Given the description of an element on the screen output the (x, y) to click on. 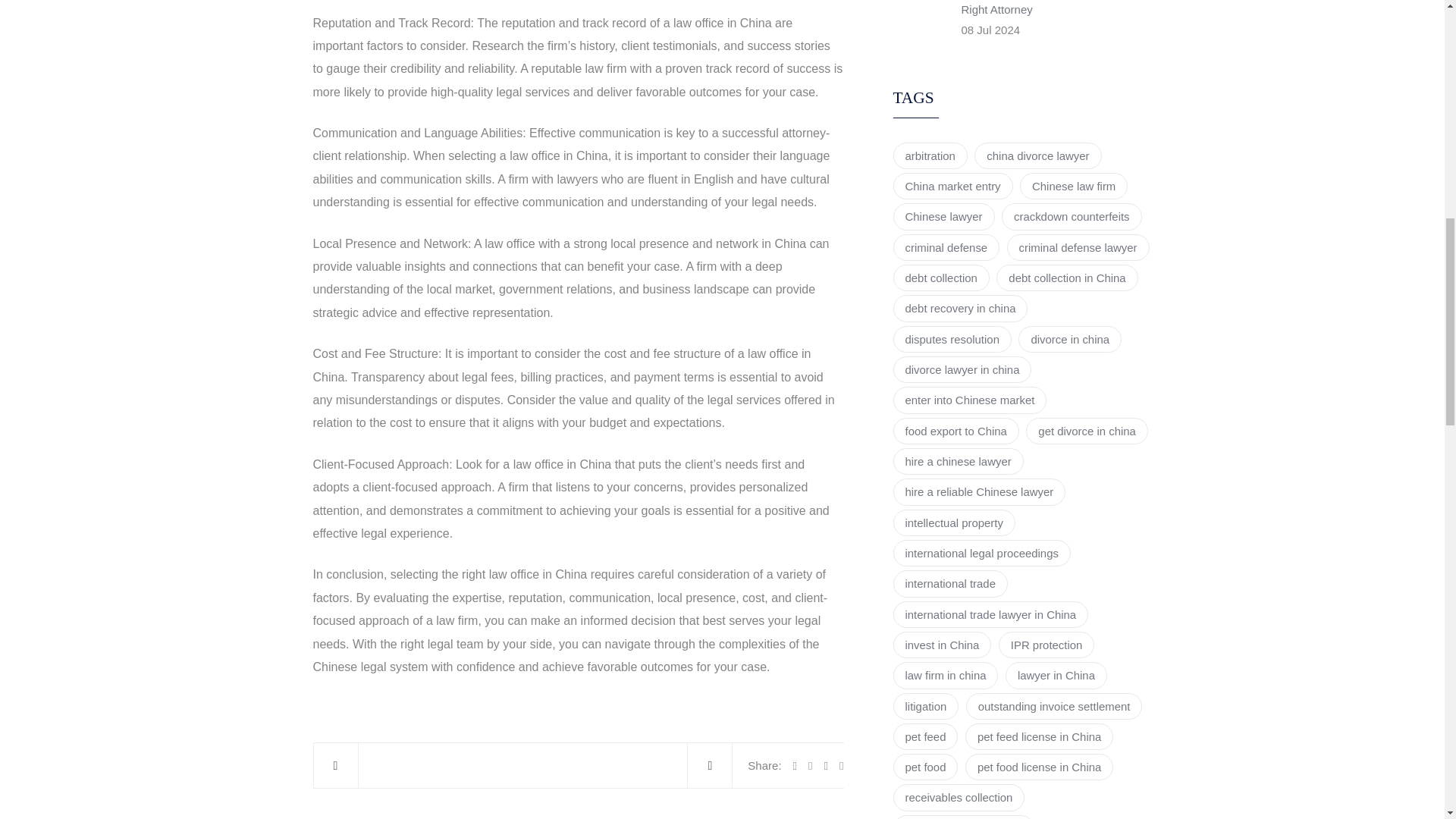
arbitration (930, 155)
China market entry (953, 185)
Chinese law firm (1073, 185)
china divorce lawyer (1037, 155)
